Given the description of an element on the screen output the (x, y) to click on. 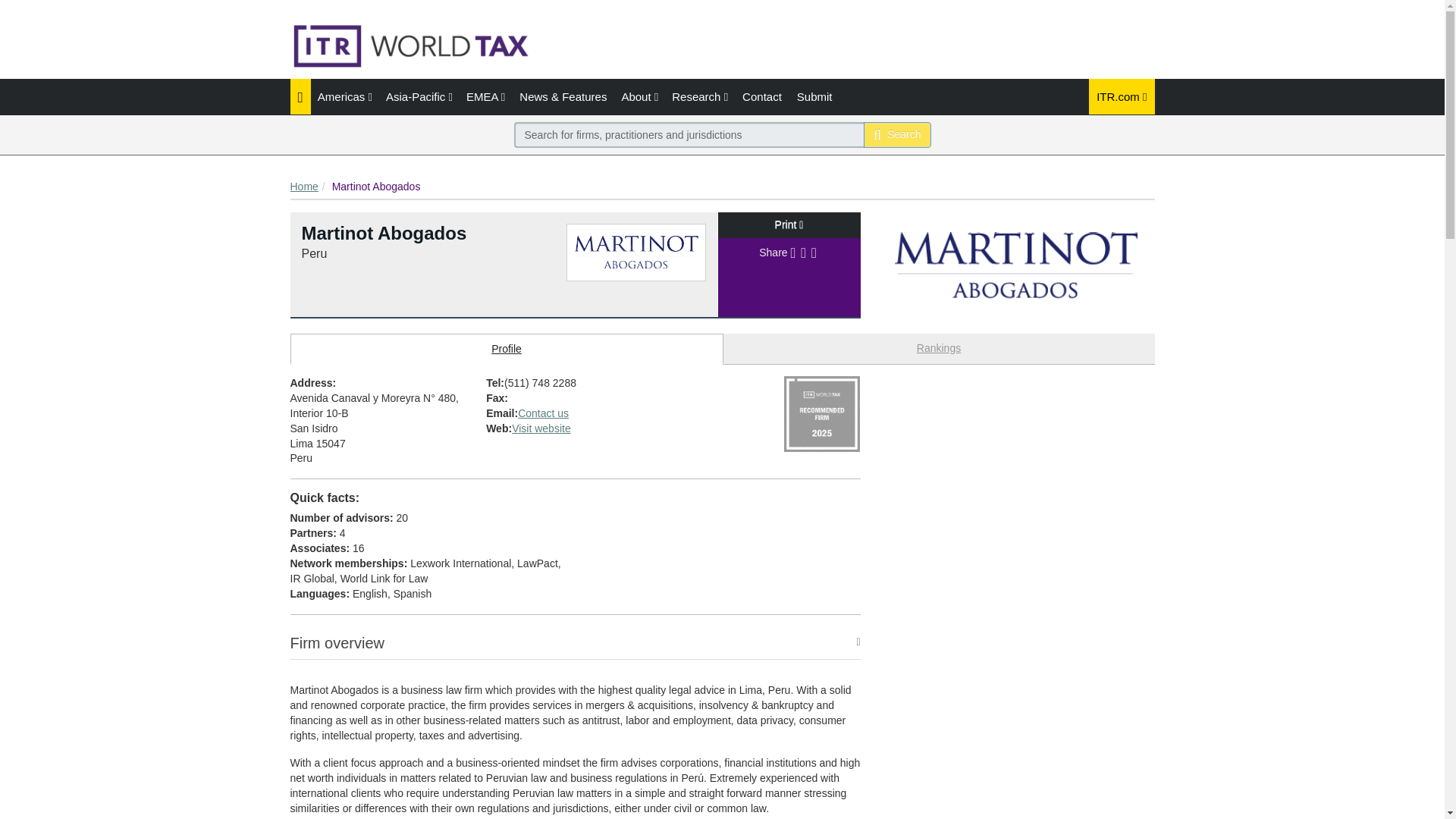
Americas (345, 96)
Americas (345, 96)
